Given the description of an element on the screen output the (x, y) to click on. 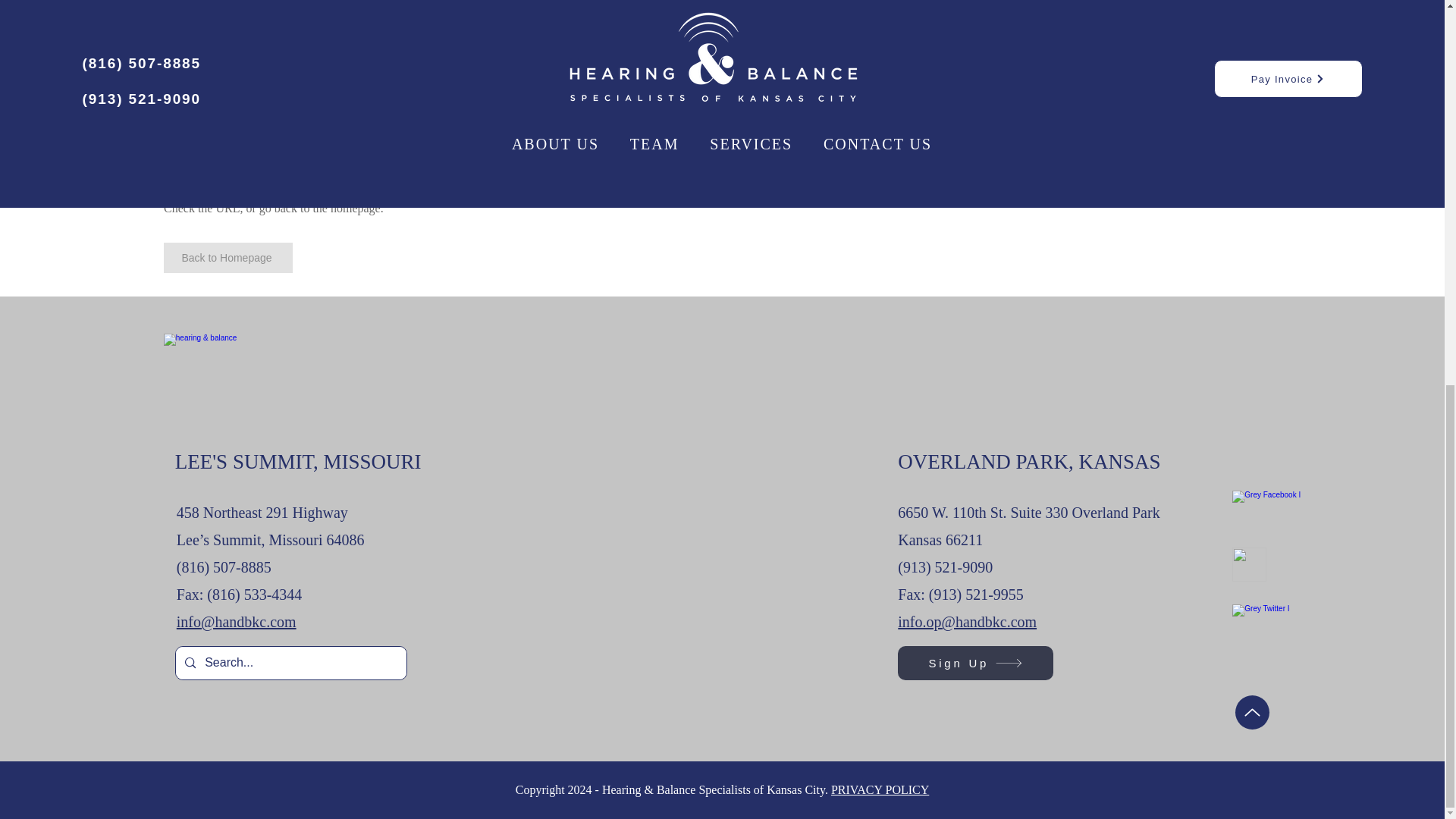
Back to Homepage (227, 257)
PRIVACY POLICY (879, 789)
Sign Up (975, 663)
